Given the description of an element on the screen output the (x, y) to click on. 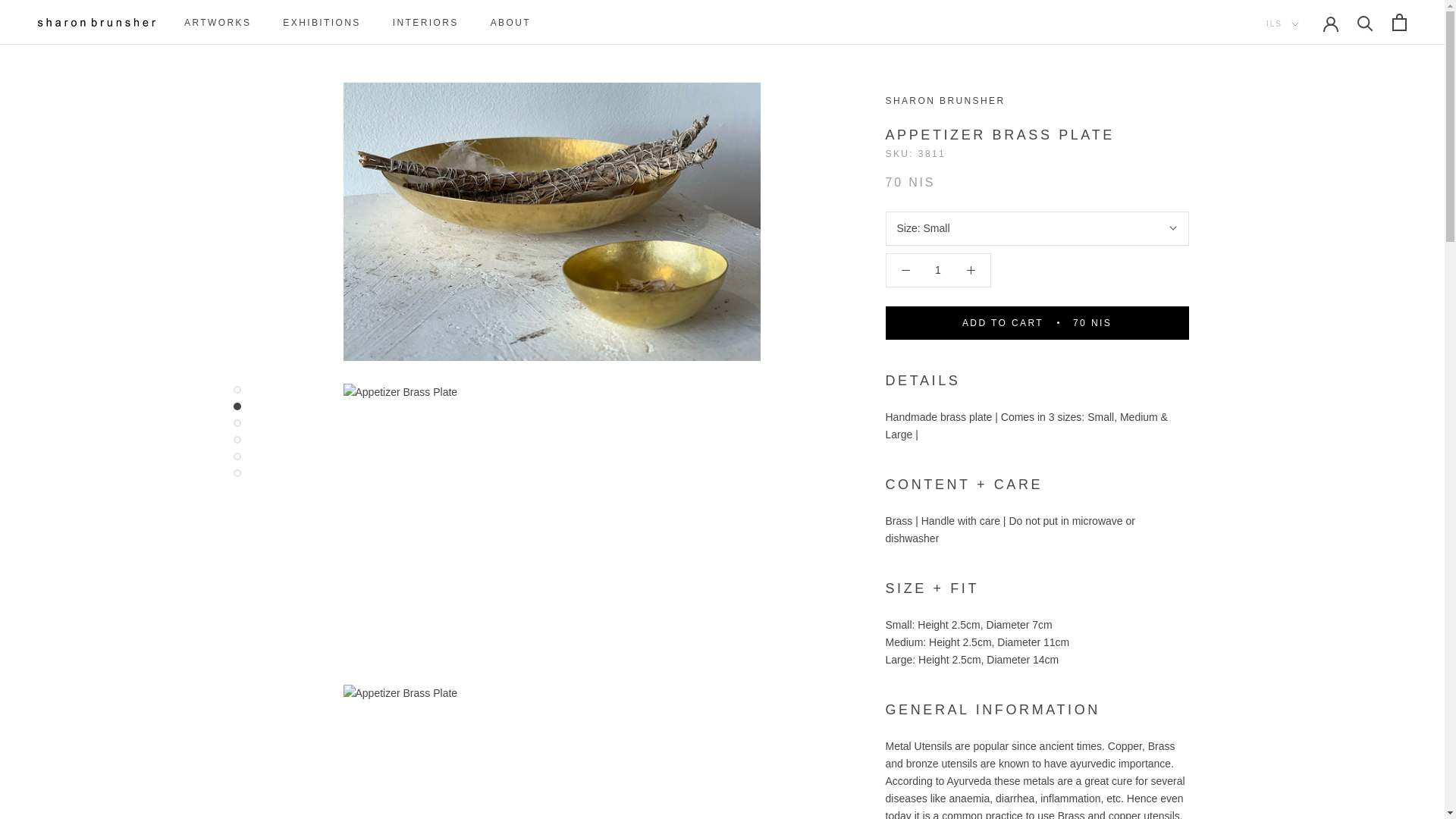
ARTWORKS (217, 22)
1 (938, 269)
Currency selector (1282, 23)
